Given the description of an element on the screen output the (x, y) to click on. 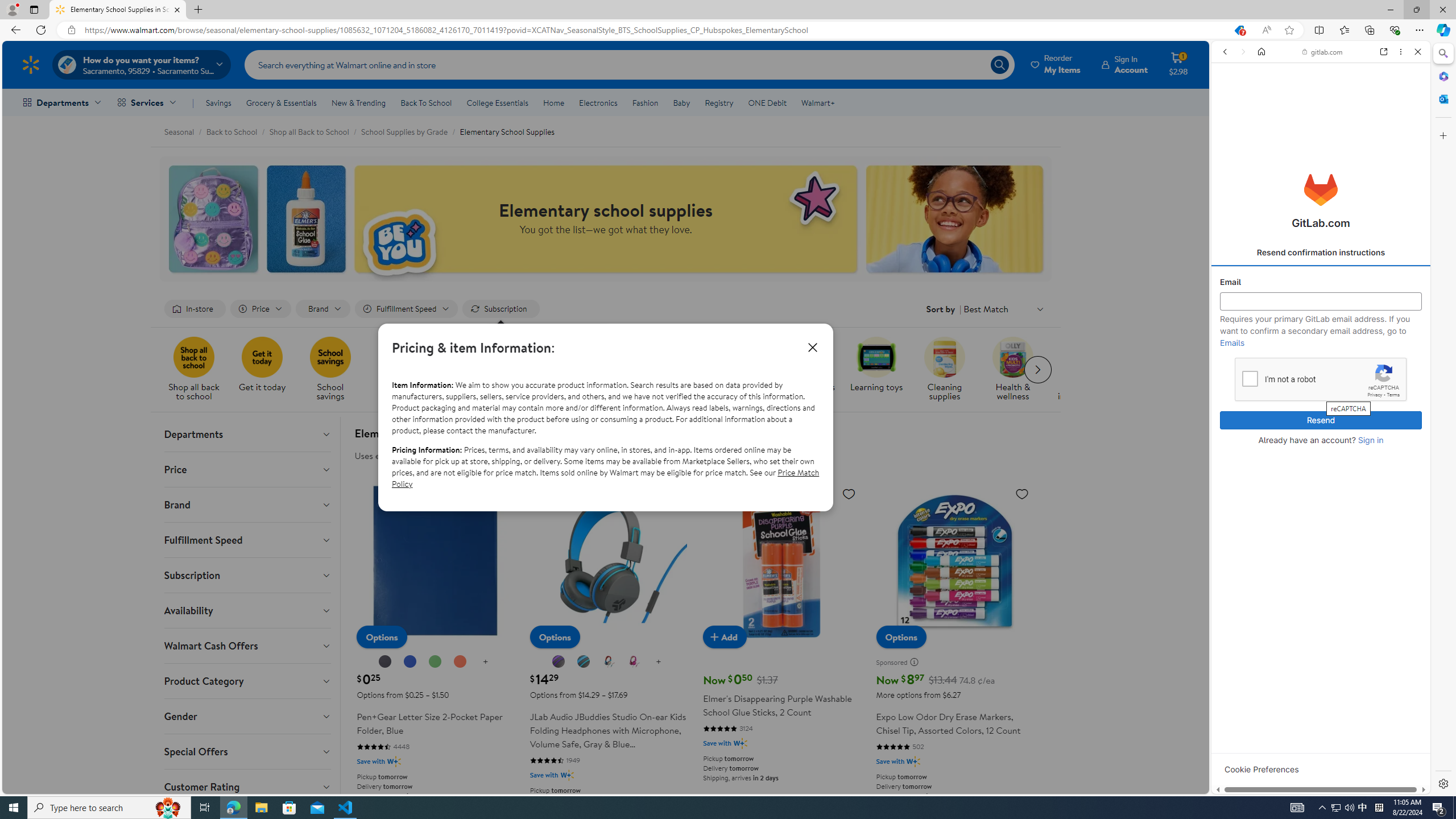
Close dialog (812, 346)
Login (1320, 281)
Cookie Preferences (1261, 769)
Sign in (1369, 439)
Global web icon (1232, 638)
Price Match Policy (605, 477)
Forward (1242, 51)
